Given the description of an element on the screen output the (x, y) to click on. 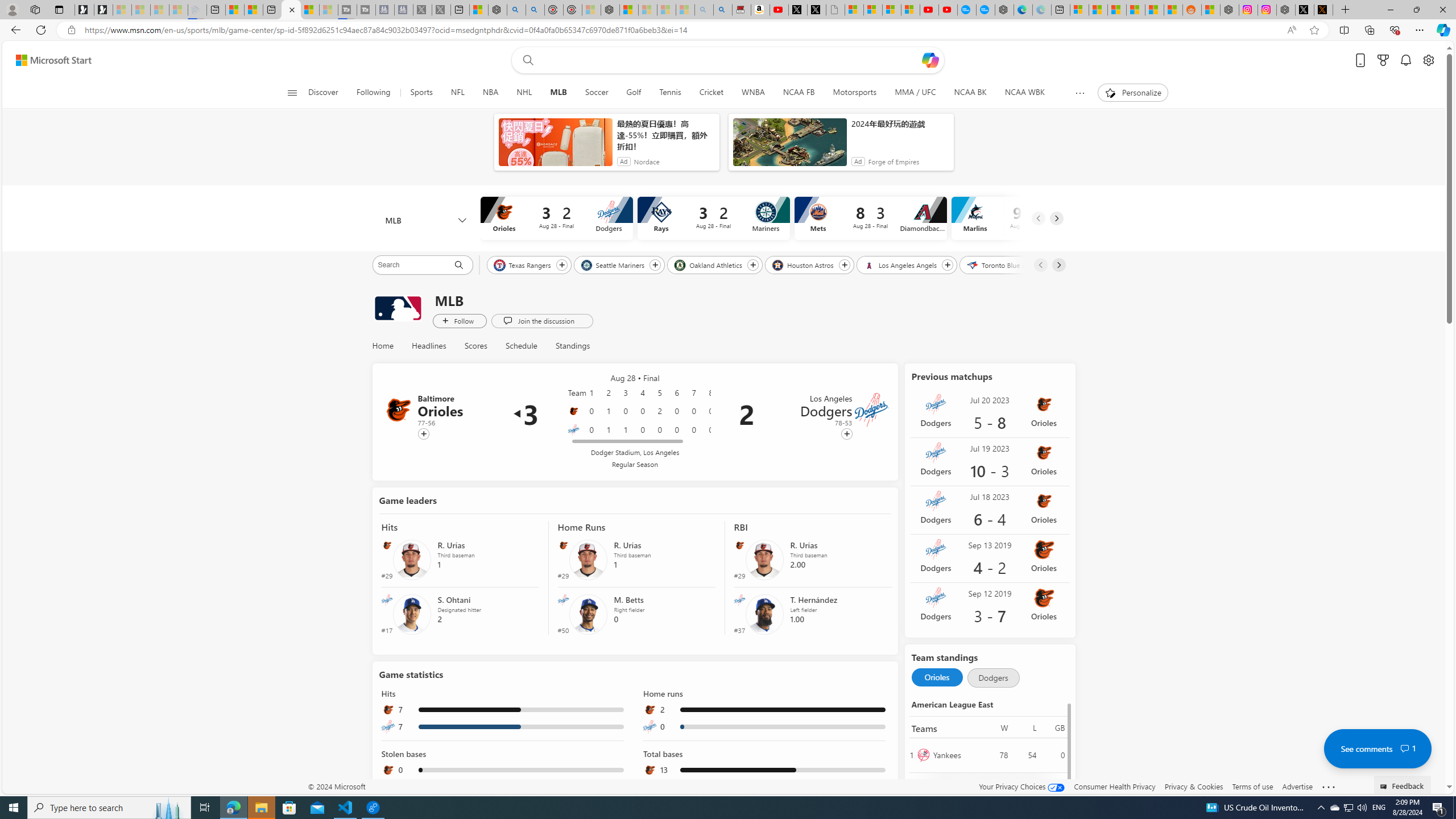
See more (1328, 787)
Untitled (835, 9)
Newsletter Sign Up (102, 9)
Follow Los Angeles Dodgers (846, 433)
Yankees (957, 754)
Nordace - Summer Adventures 2024 (1285, 9)
NCAA WBK (1024, 92)
help.x.com | 524: A timeout occurred (1323, 9)
Shanghai, China weather forecast | Microsoft Weather (1098, 9)
